Given the description of an element on the screen output the (x, y) to click on. 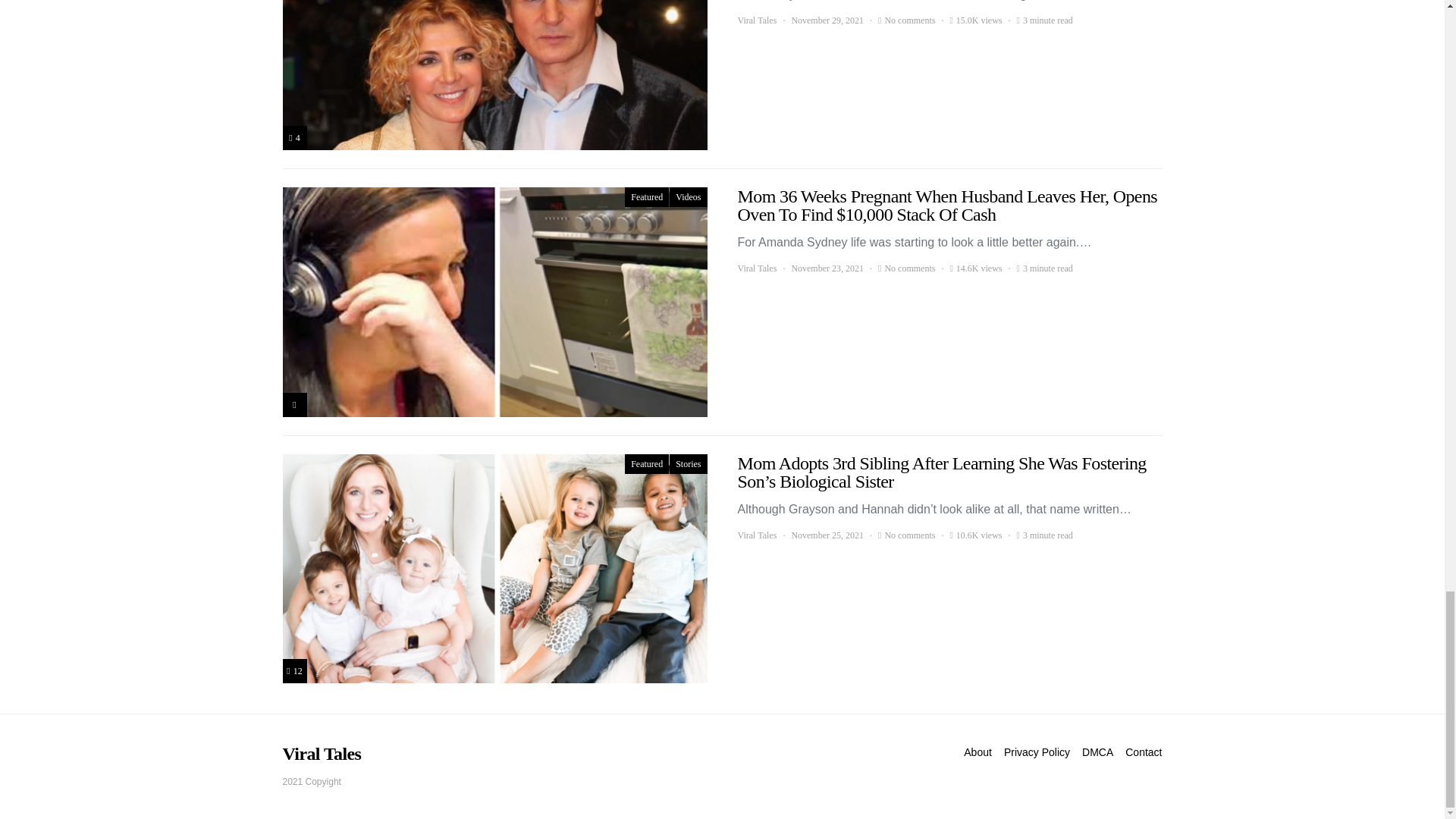
View all posts by Viral Tales (756, 535)
View all posts by Viral Tales (756, 268)
Viral Tales (756, 20)
View all posts by Viral Tales (756, 20)
No comments (908, 268)
4 (293, 137)
Videos (687, 197)
Featured (646, 464)
Featured (646, 197)
Viral Tales (756, 268)
No comments (908, 20)
